Given the description of an element on the screen output the (x, y) to click on. 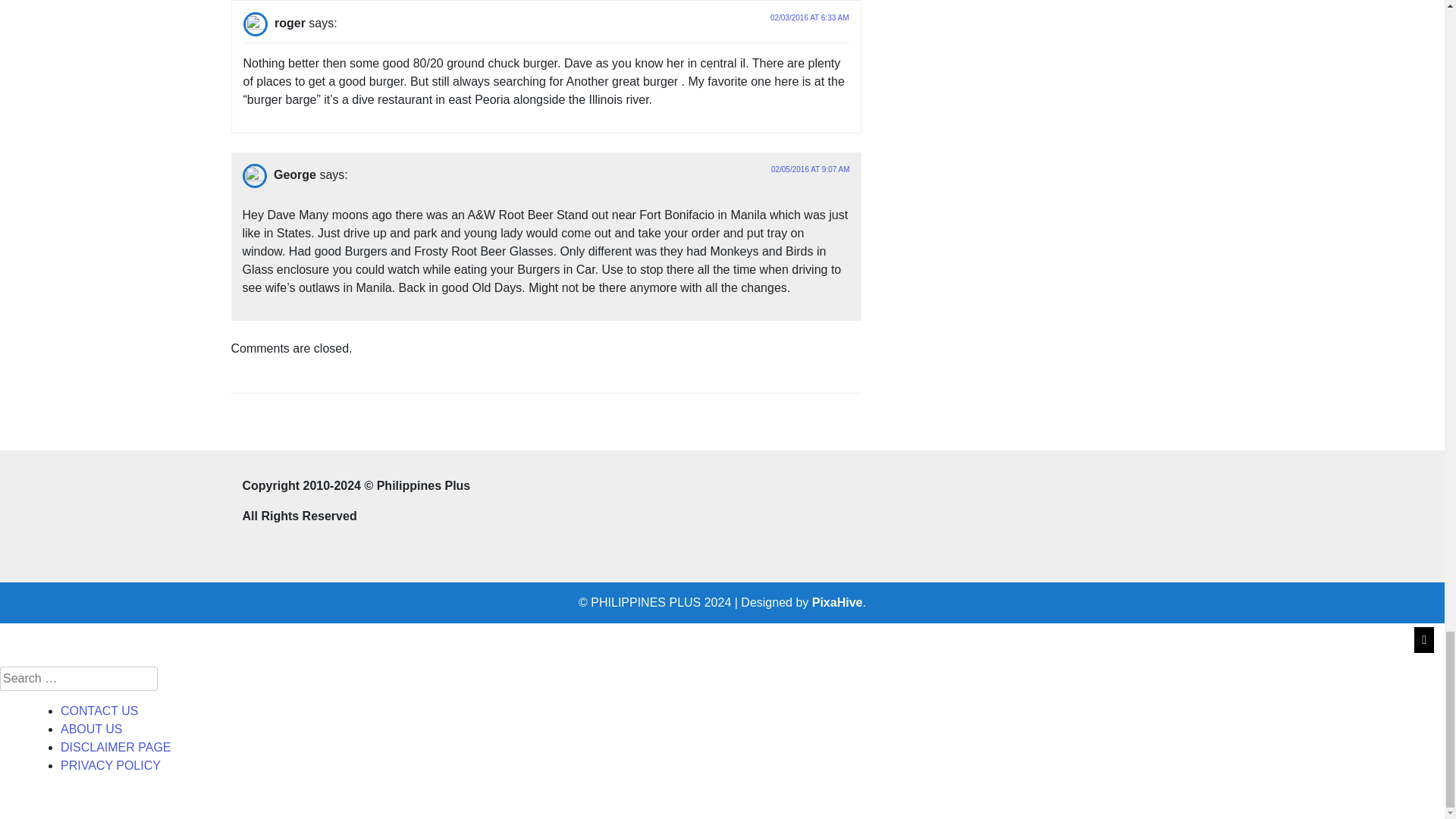
PixaHive (837, 602)
